Given the description of an element on the screen output the (x, y) to click on. 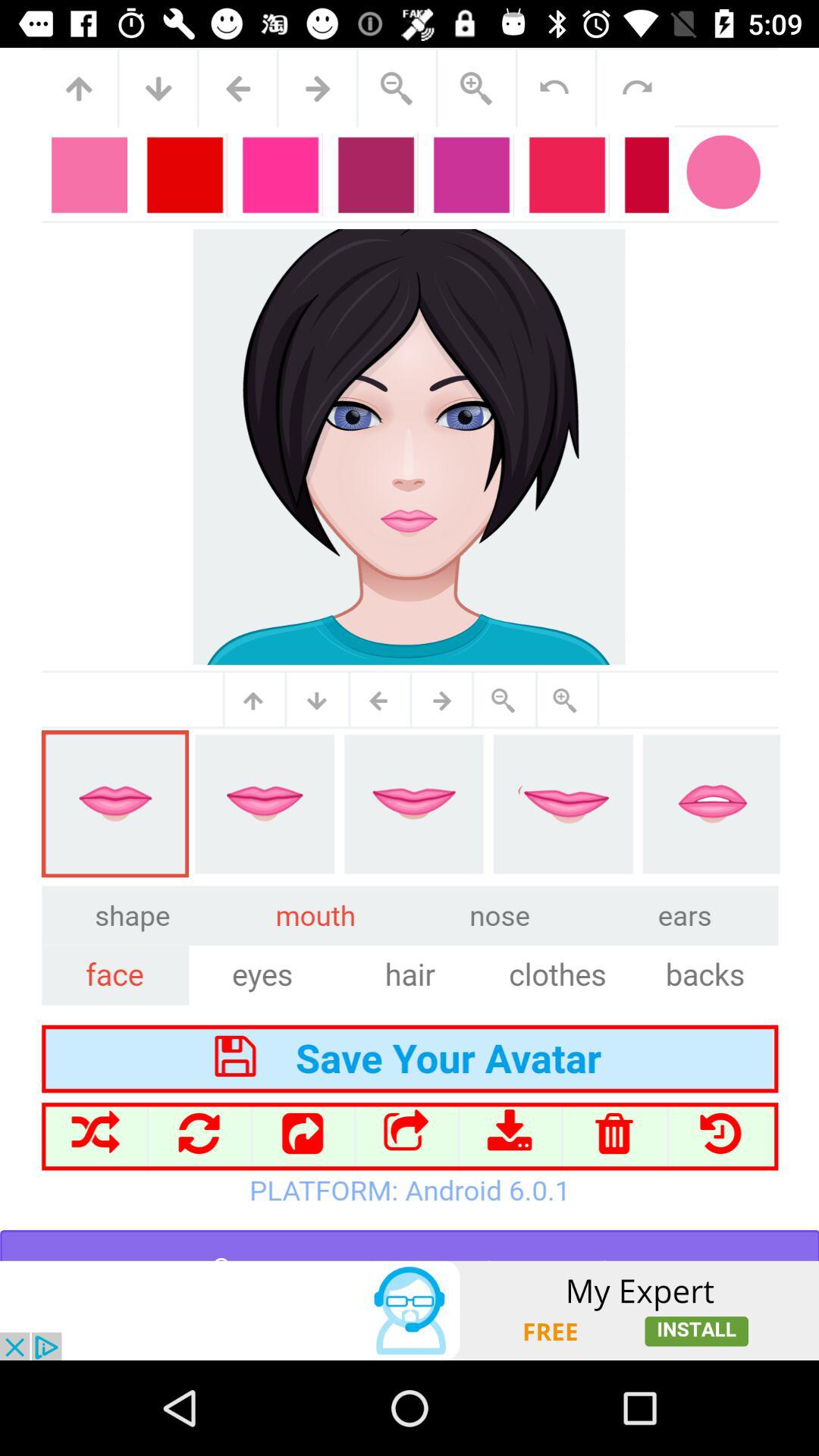
advertisement (409, 1310)
